Given the description of an element on the screen output the (x, y) to click on. 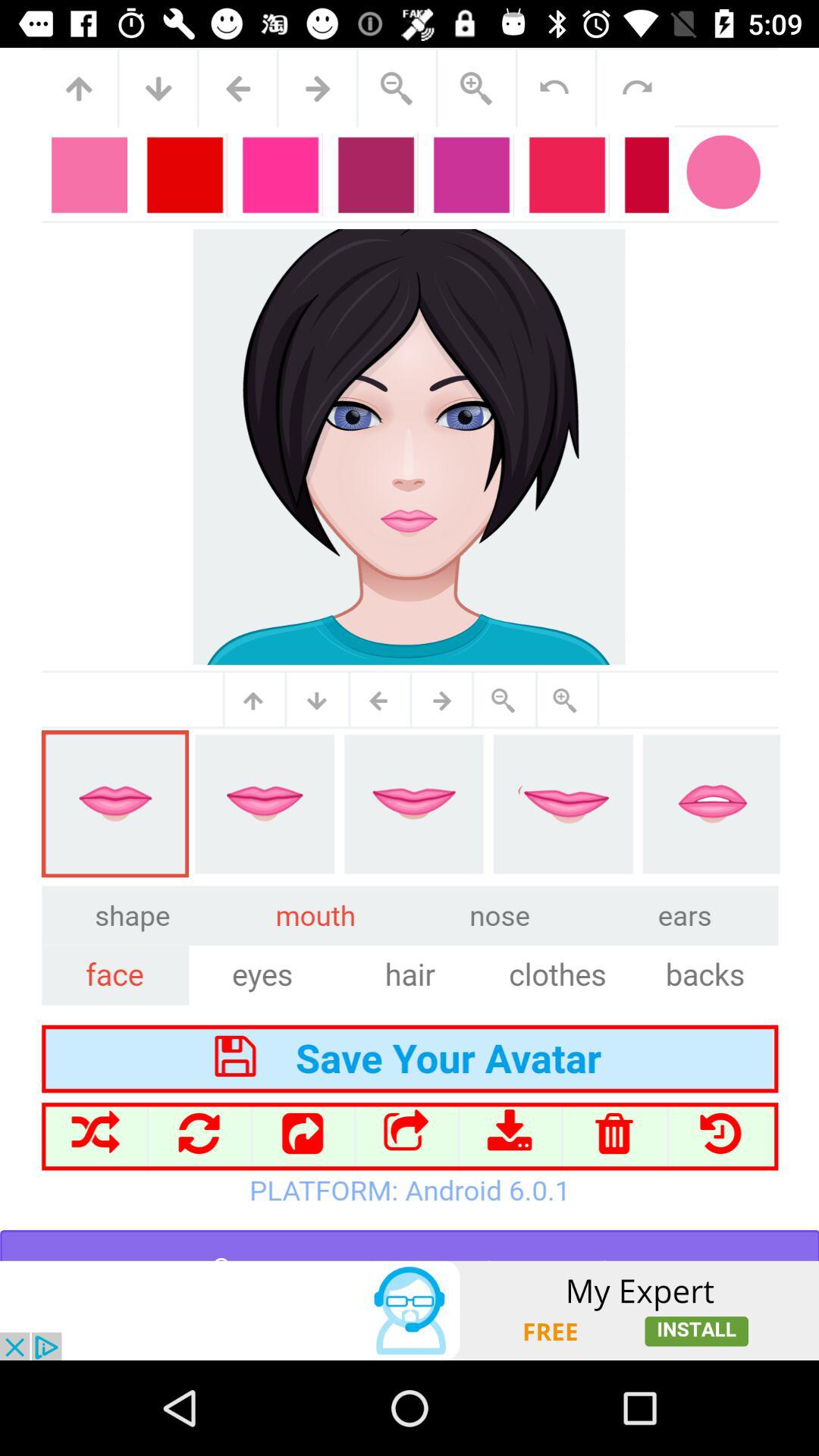
advertisement (409, 1310)
